Given the description of an element on the screen output the (x, y) to click on. 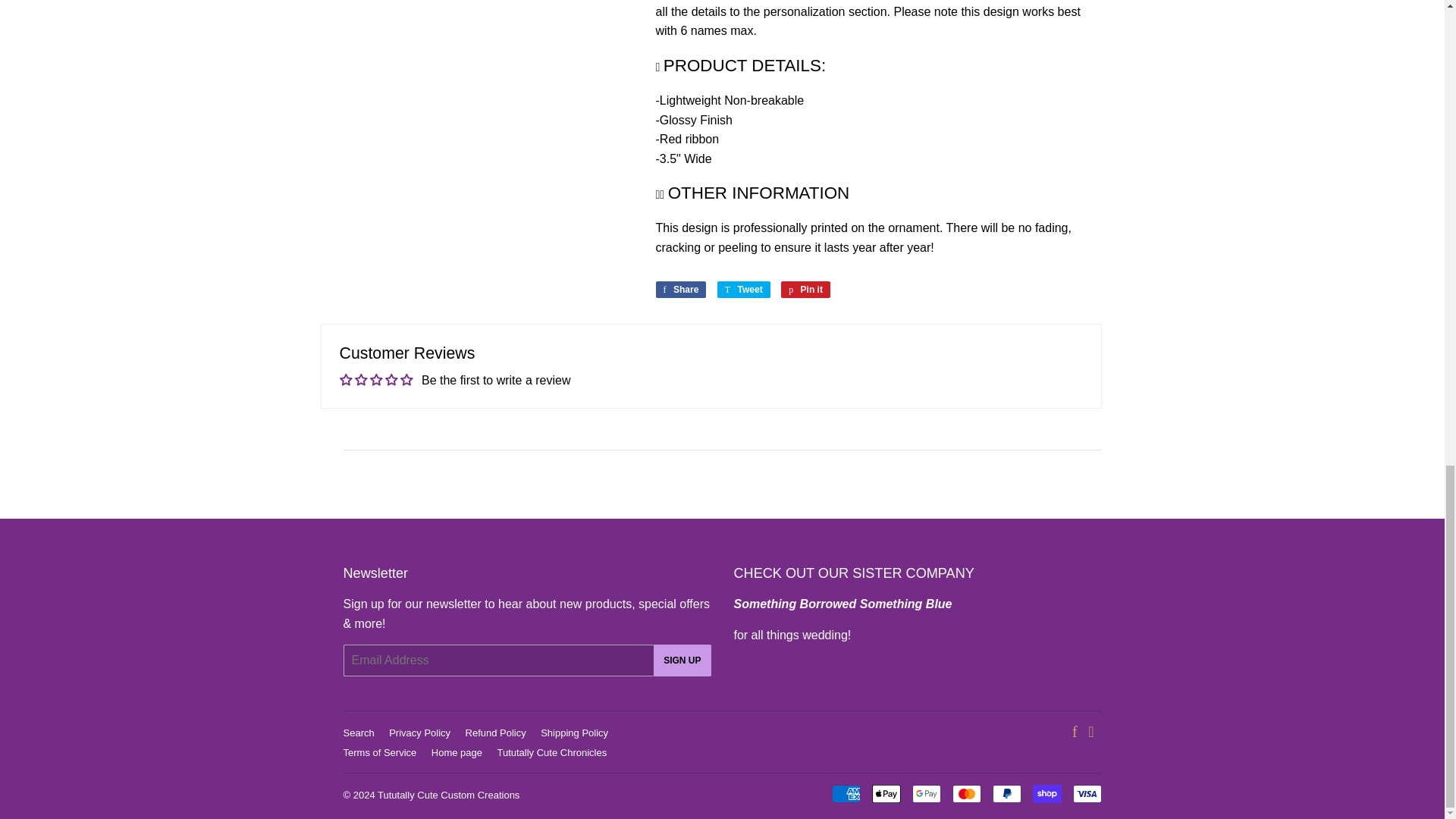
Share on Facebook (680, 289)
Tweet on Twitter (743, 289)
American Express (845, 793)
Pin on Pinterest (804, 289)
Visa (1085, 793)
Mastercard (966, 793)
Google Pay (925, 793)
Shop Pay (1046, 793)
PayPal (1005, 793)
Apple Pay (886, 793)
